Given the description of an element on the screen output the (x, y) to click on. 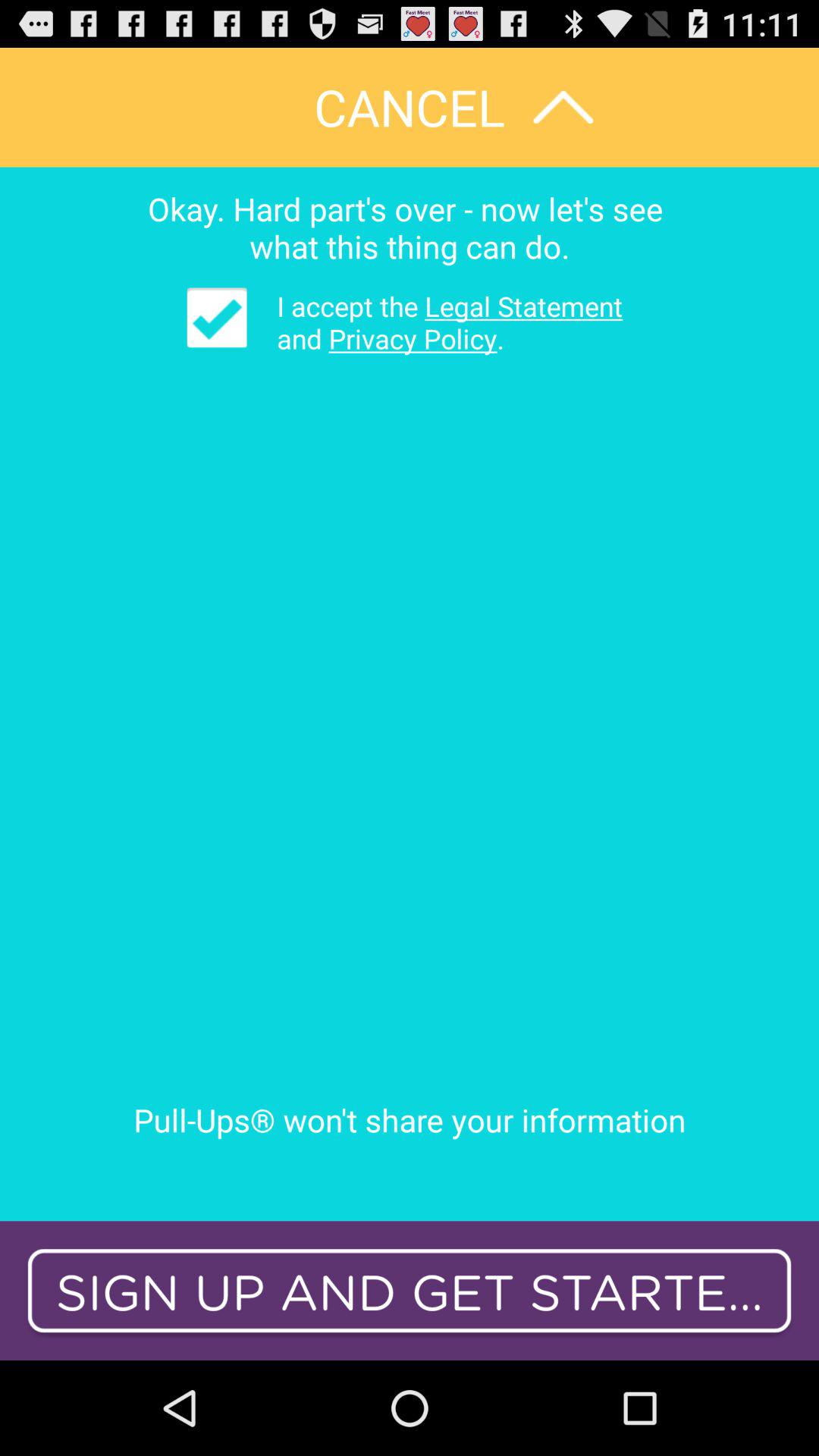
jump until sign up and (409, 1290)
